Given the description of an element on the screen output the (x, y) to click on. 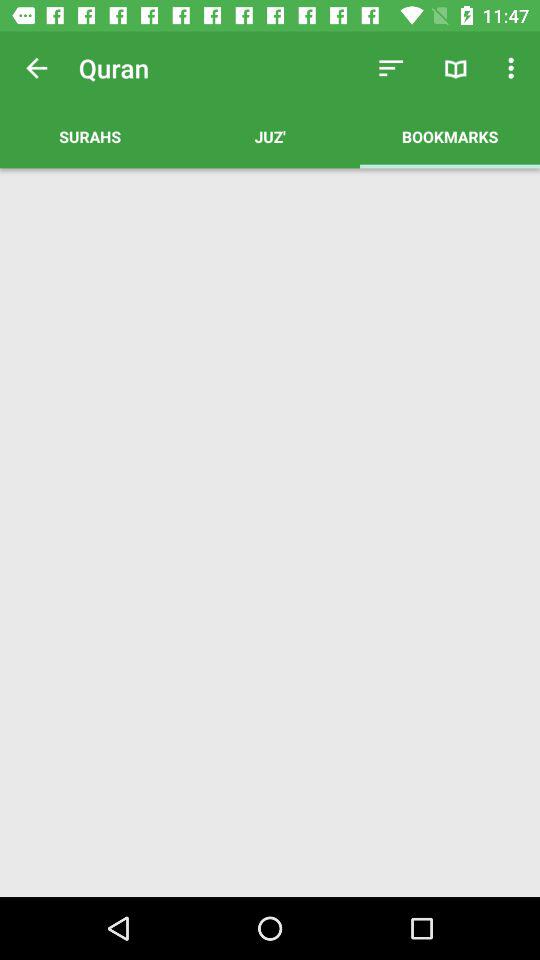
press surahs (90, 136)
